Given the description of an element on the screen output the (x, y) to click on. 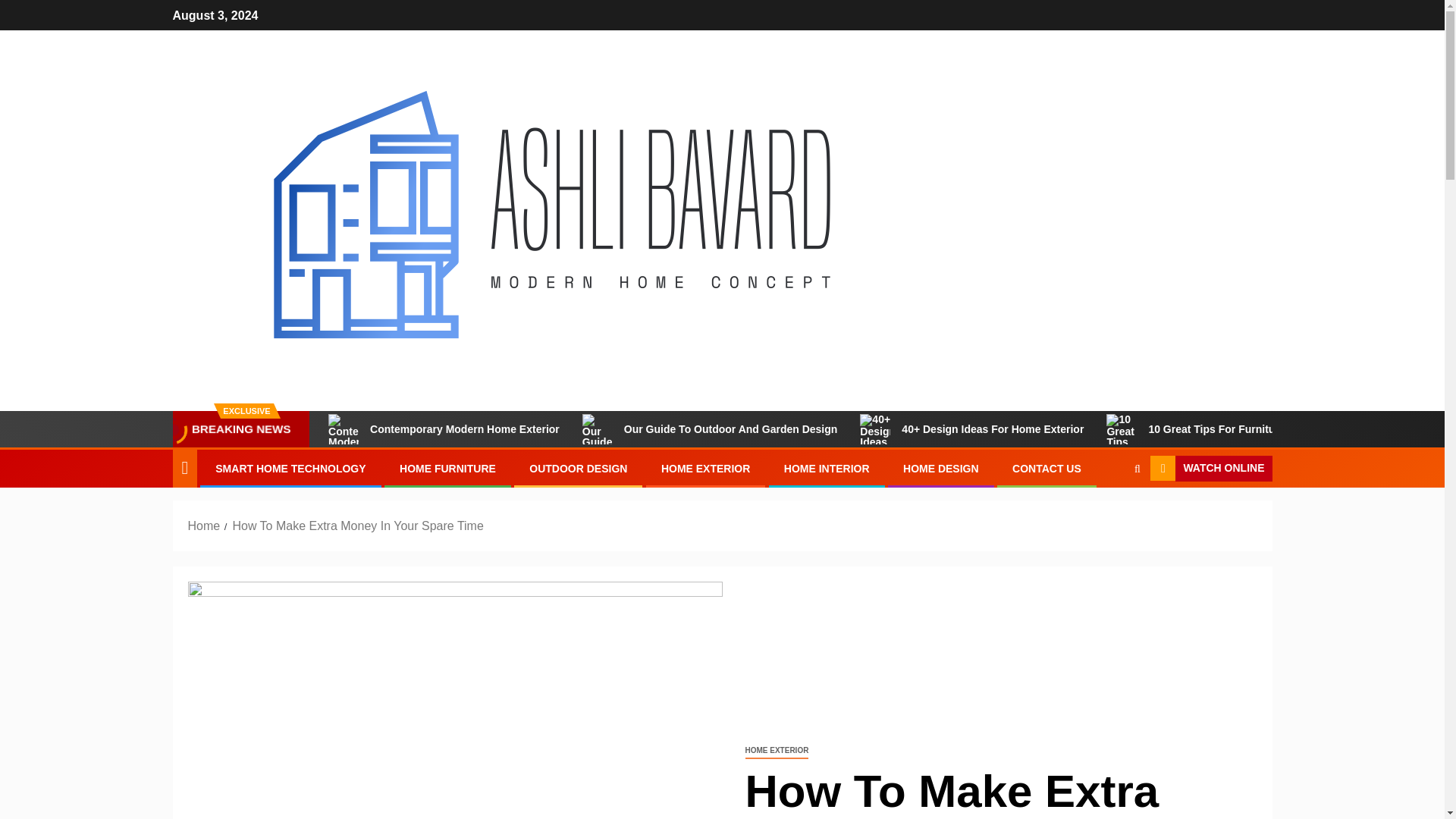
SMART HOME TECHNOLOGY (290, 468)
OUTDOOR DESIGN (578, 468)
HOME INTERIOR (826, 468)
Contemporary Modern Home Exterior (443, 429)
HOME DESIGN (940, 468)
CONTACT US (1046, 468)
WATCH ONLINE (1210, 468)
HOME EXTERIOR (705, 468)
Our Guide To Outdoor And Garden Design (709, 429)
10 Great Tips For Furniture Shopping (1221, 429)
